Given the description of an element on the screen output the (x, y) to click on. 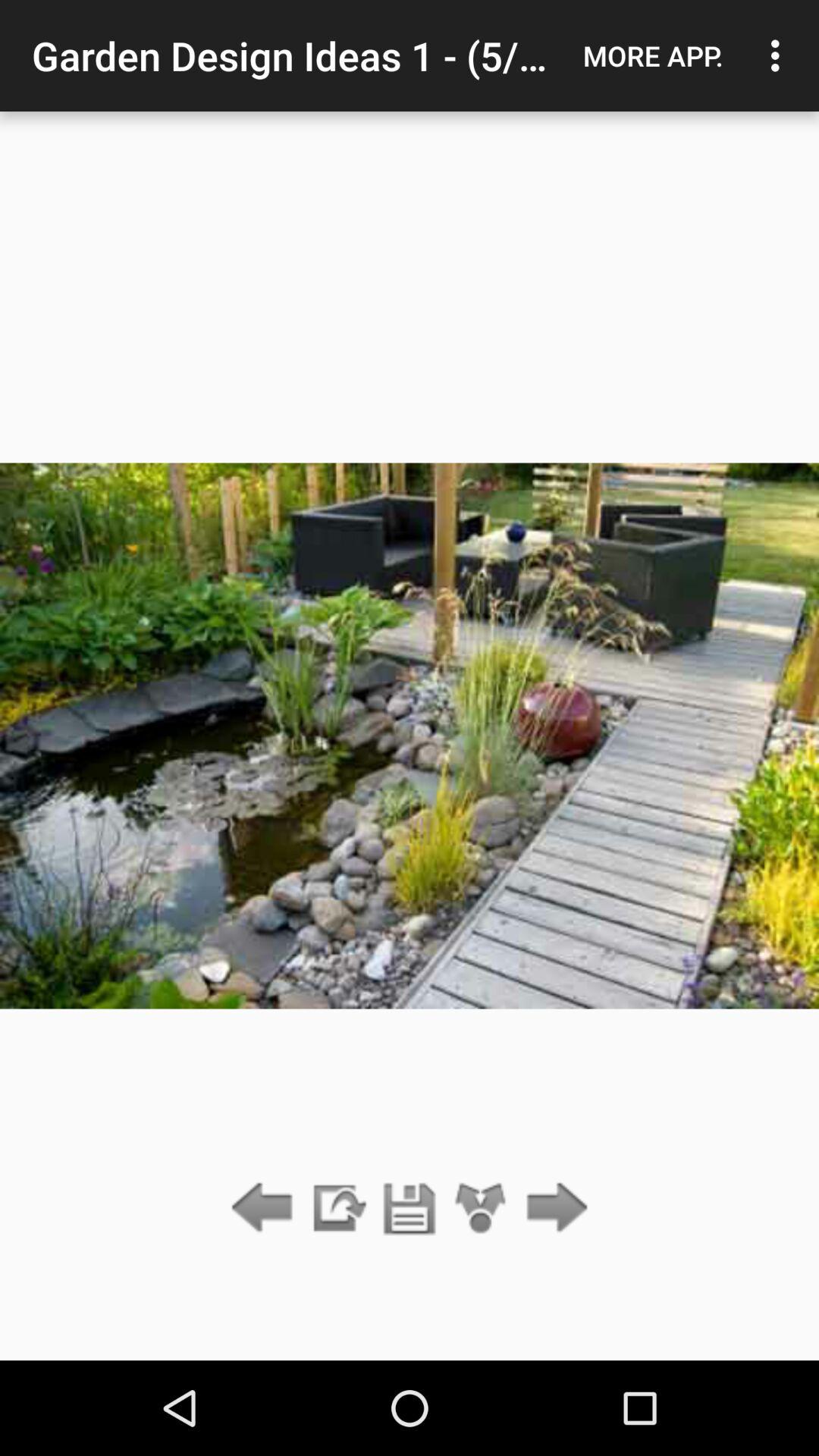
save image (409, 1208)
